Given the description of an element on the screen output the (x, y) to click on. 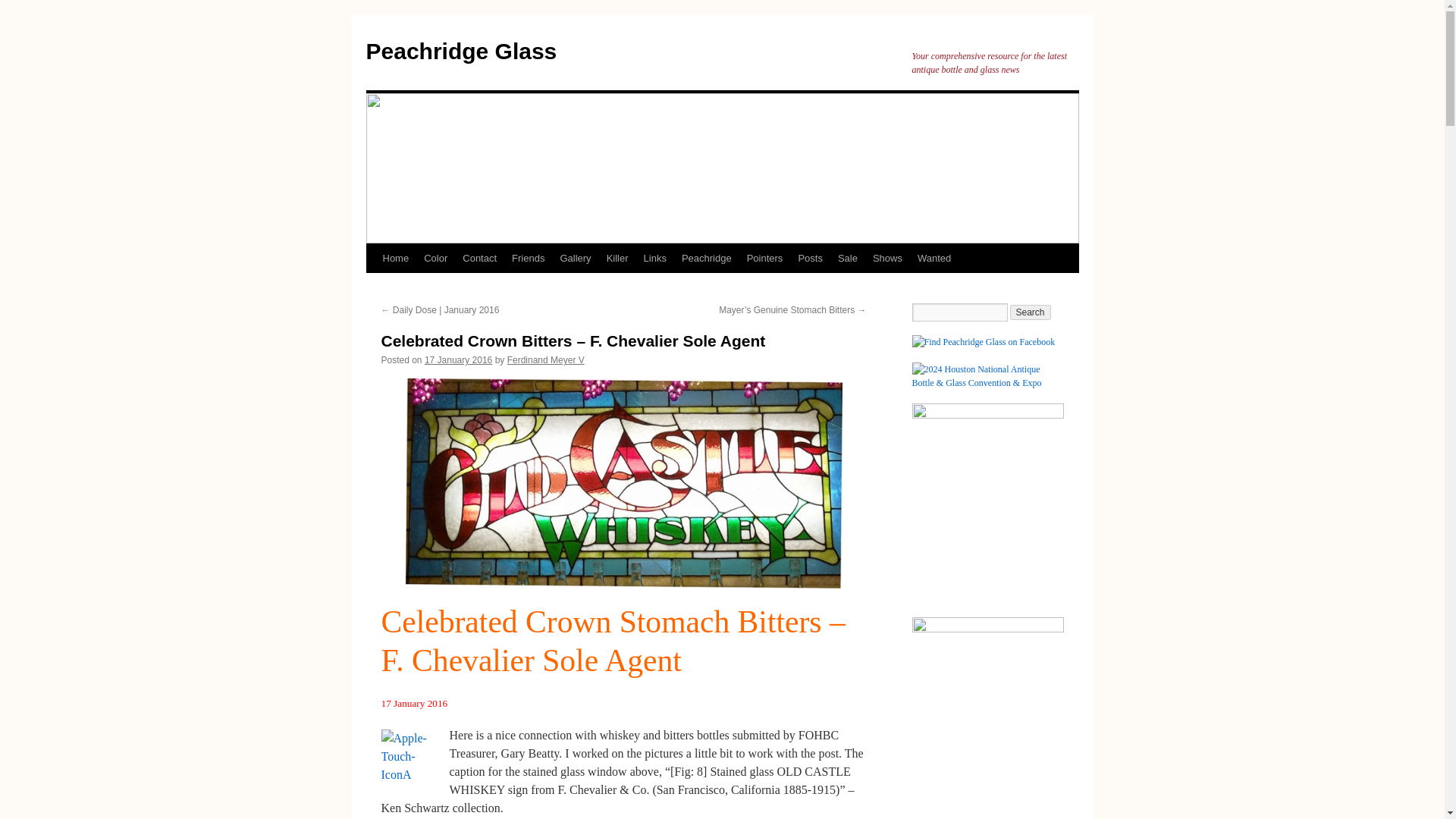
Friends (527, 258)
8:01 am (458, 359)
Ferdinand Meyer V (545, 359)
Peachridge Glass (460, 50)
Pointers (764, 258)
Color (435, 258)
Peachridge Glass (460, 50)
Links (655, 258)
Posts (809, 258)
Sale (846, 258)
